Given the description of an element on the screen output the (x, y) to click on. 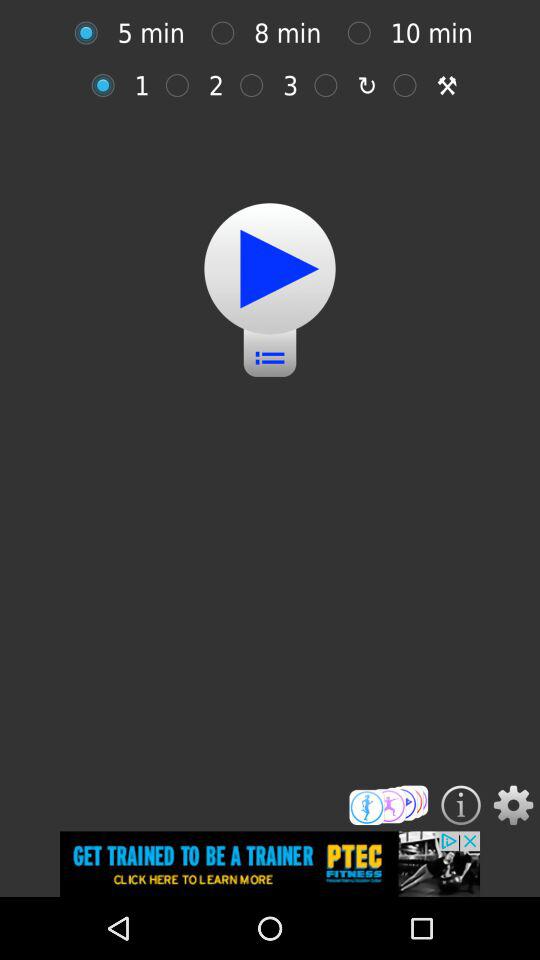
play the workout (269, 268)
